Given the description of an element on the screen output the (x, y) to click on. 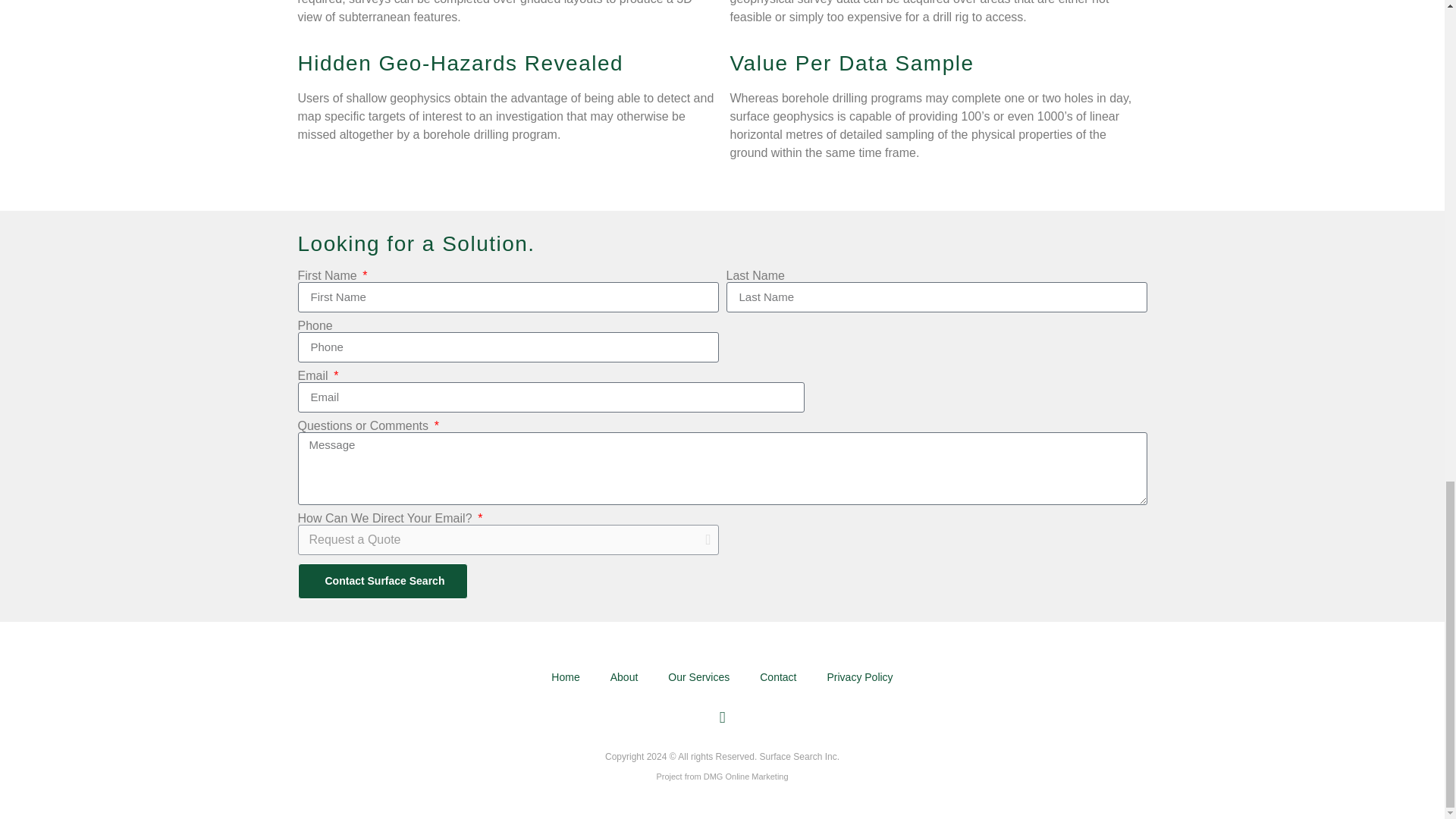
About (624, 677)
Privacy Policy (858, 677)
Contact (777, 677)
DMG Online Marketing (746, 776)
Our Services (698, 677)
Home (564, 677)
Contact Surface Search (382, 580)
